Given the description of an element on the screen output the (x, y) to click on. 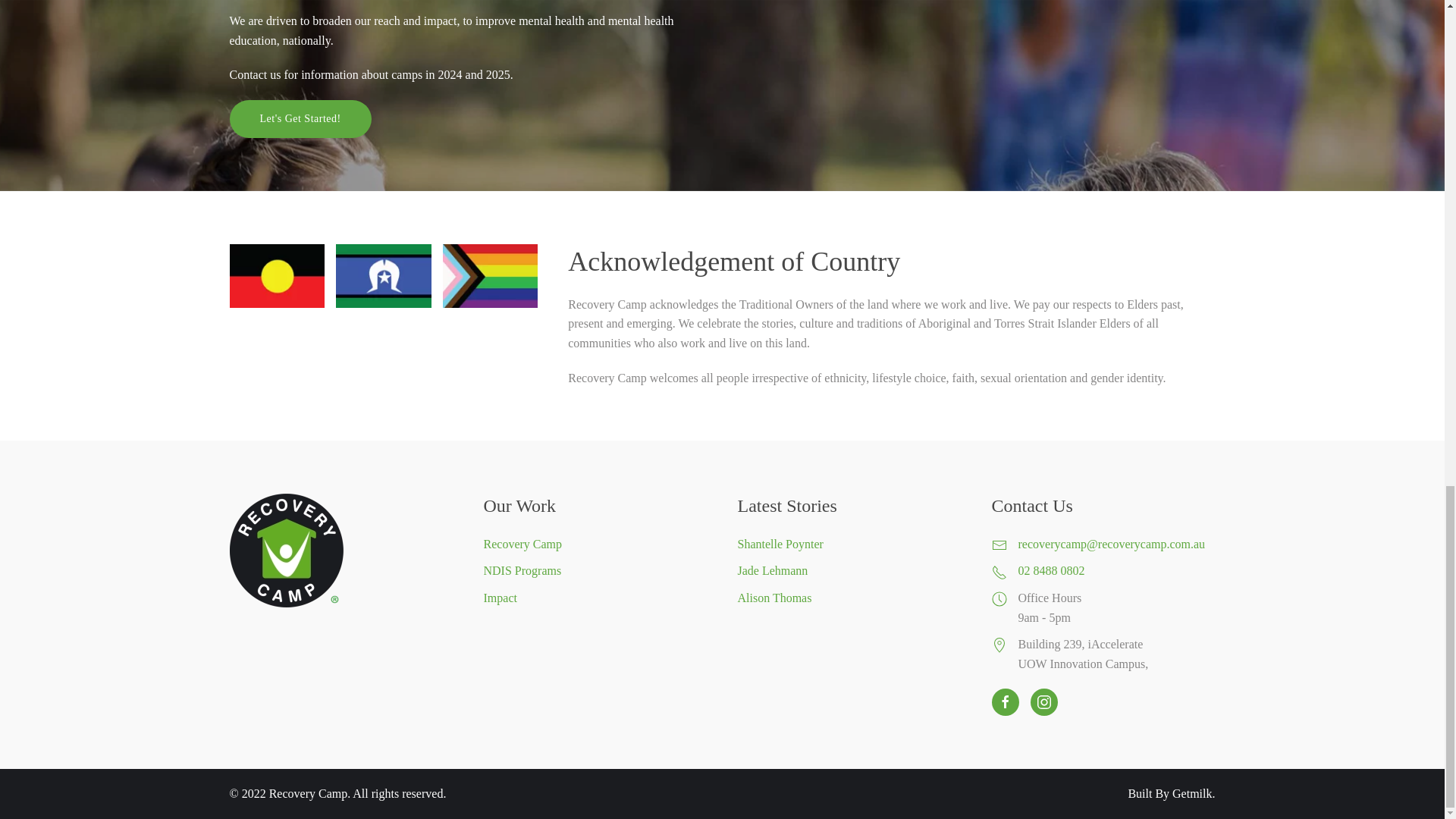
Alison Thomas (773, 597)
Recovery Camp (595, 544)
NDIS Programs (595, 570)
Let's Get Started! (299, 118)
Our Work (519, 505)
Jade Lehmann (772, 570)
Shantelle Poynter (779, 543)
Impact (595, 598)
02 8488 0802 (1115, 570)
Latest Stories (785, 505)
